Given the description of an element on the screen output the (x, y) to click on. 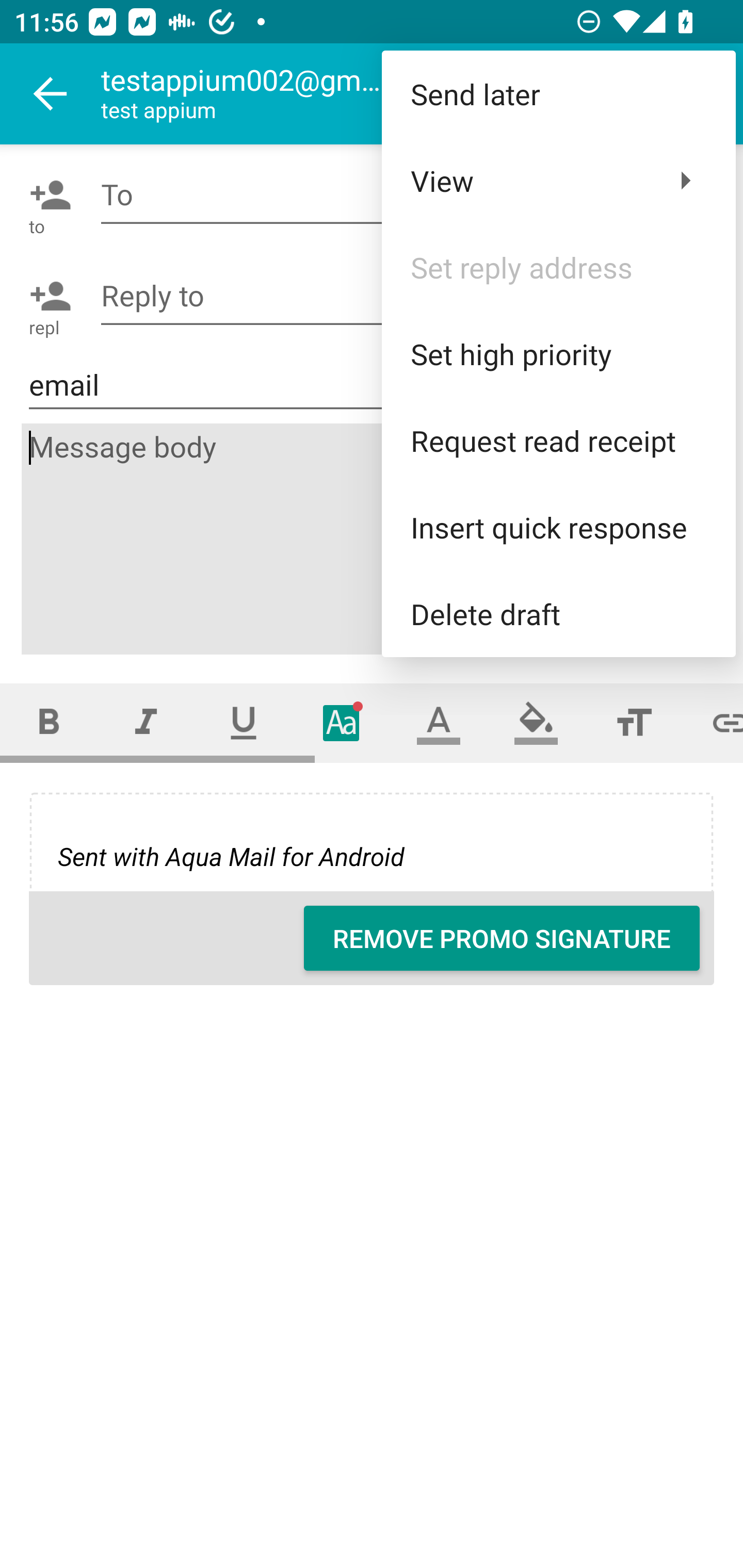
Send later (558, 93)
View (558, 180)
Set high priority (558, 353)
Request read receipt (558, 440)
Insert quick response (558, 527)
Delete draft (558, 613)
